Given the description of an element on the screen output the (x, y) to click on. 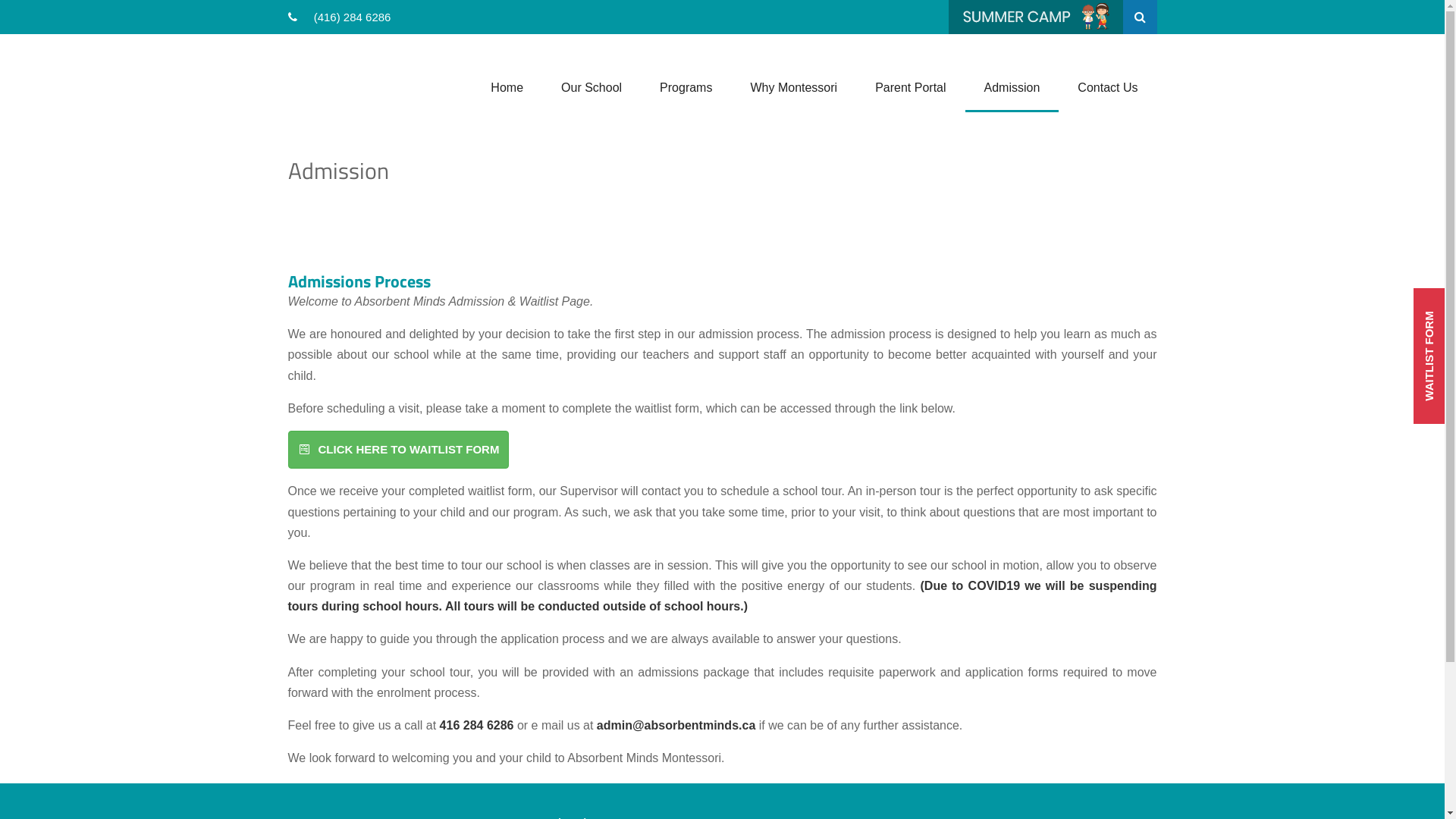
CLICK HERE TO WAITLIST FORM Element type: text (398, 448)
Our School Element type: text (591, 82)
Programs Element type: text (685, 82)
CLICK HERE TO WAITLIST FORM Element type: text (398, 449)
Parent Portal Element type: text (910, 82)
Admission Element type: text (1012, 82)
Home Element type: text (506, 82)
Contact Us Element type: text (1107, 82)
Summer Camp Element type: hover (1034, 17)
Why Montessori Element type: text (793, 82)
